Given the description of an element on the screen output the (x, y) to click on. 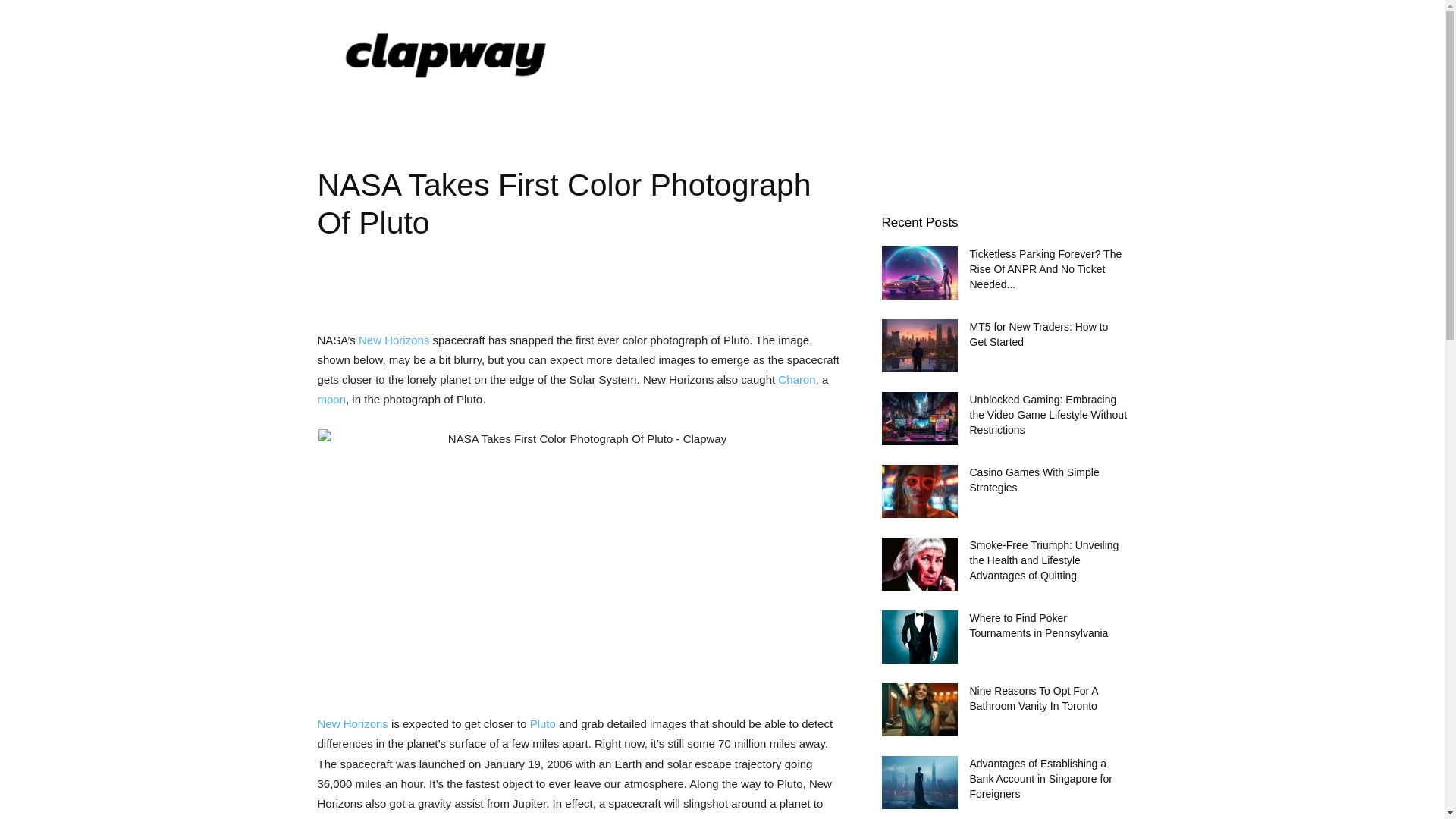
ALL (348, 114)
Charon (796, 379)
CANNABIS (670, 114)
OTHER (856, 114)
GAMES (584, 114)
New Horizons Space Probe Turns For Pluto Flyby (352, 723)
SCIENCE (423, 114)
NASA New Horizons (393, 339)
Help Name Craters And Mountains On Pluto (542, 723)
SERVICES (765, 114)
